Given the description of an element on the screen output the (x, y) to click on. 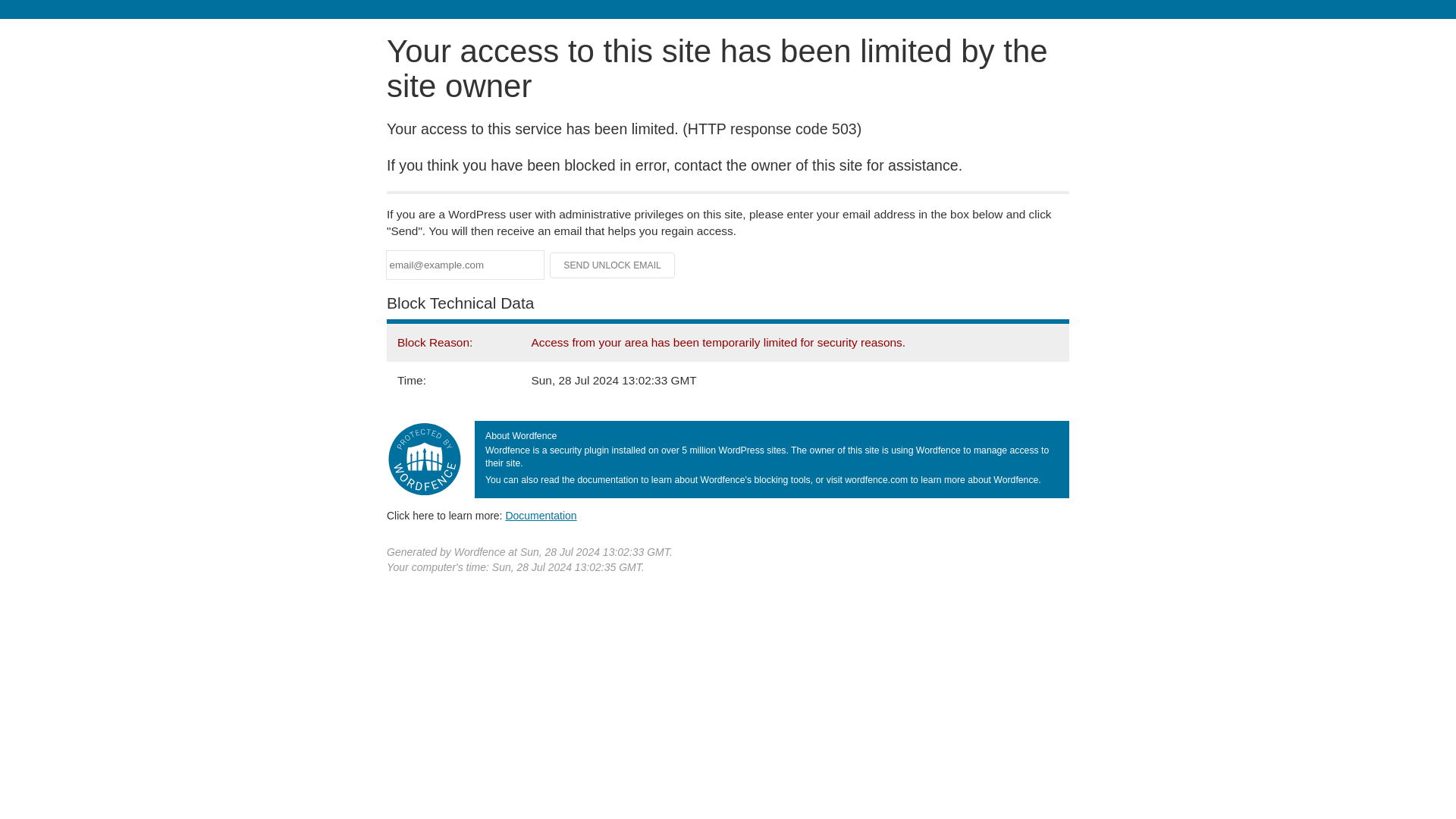
Documentation (540, 515)
Send Unlock Email (612, 265)
Send Unlock Email (612, 265)
